Given the description of an element on the screen output the (x, y) to click on. 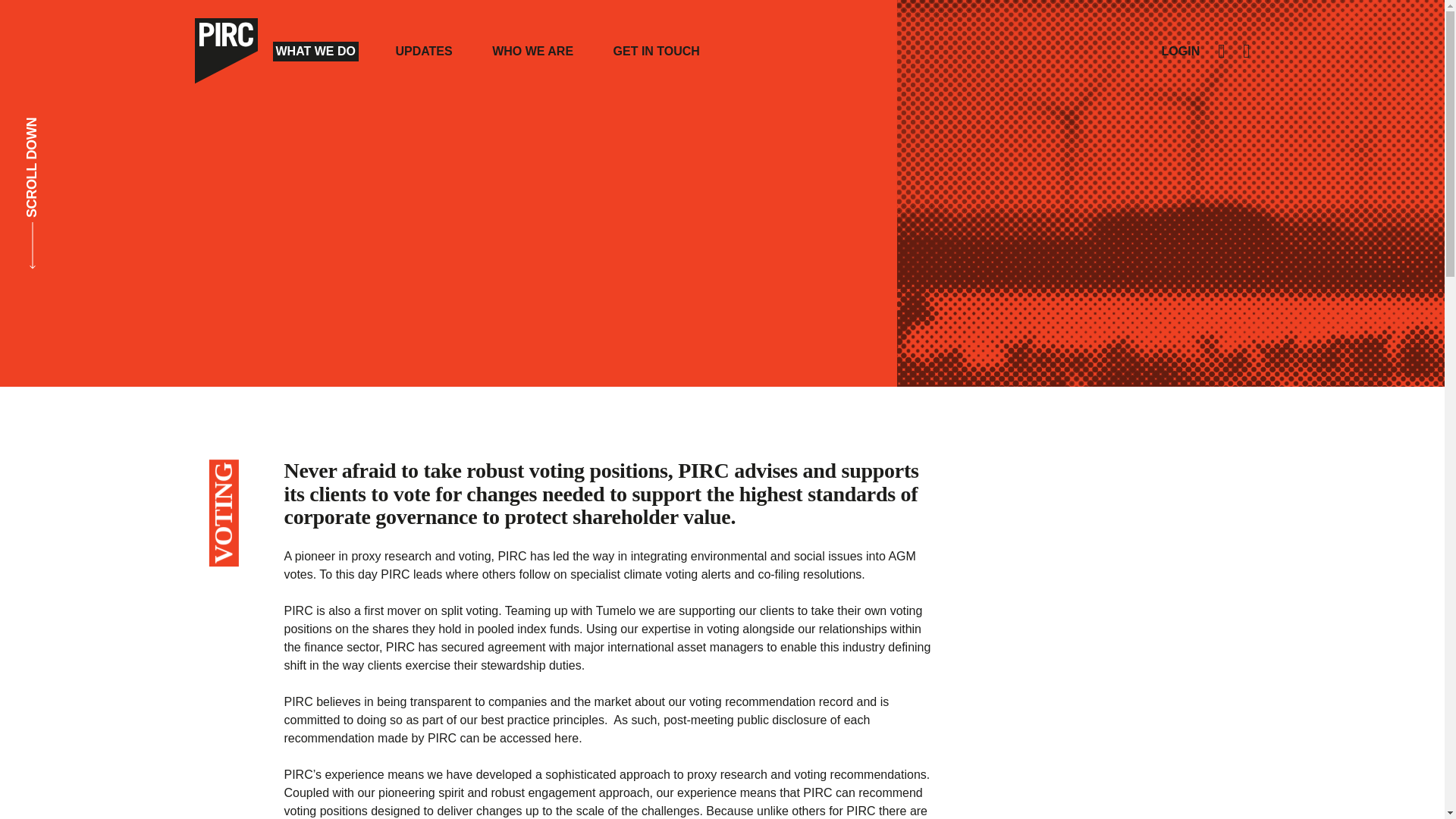
WHO WE ARE (532, 51)
UPDATES (422, 51)
GET IN TOUCH (656, 51)
LOGIN (1180, 51)
SCROLL DOWN (32, 193)
WHAT WE DO (315, 51)
